Given the description of an element on the screen output the (x, y) to click on. 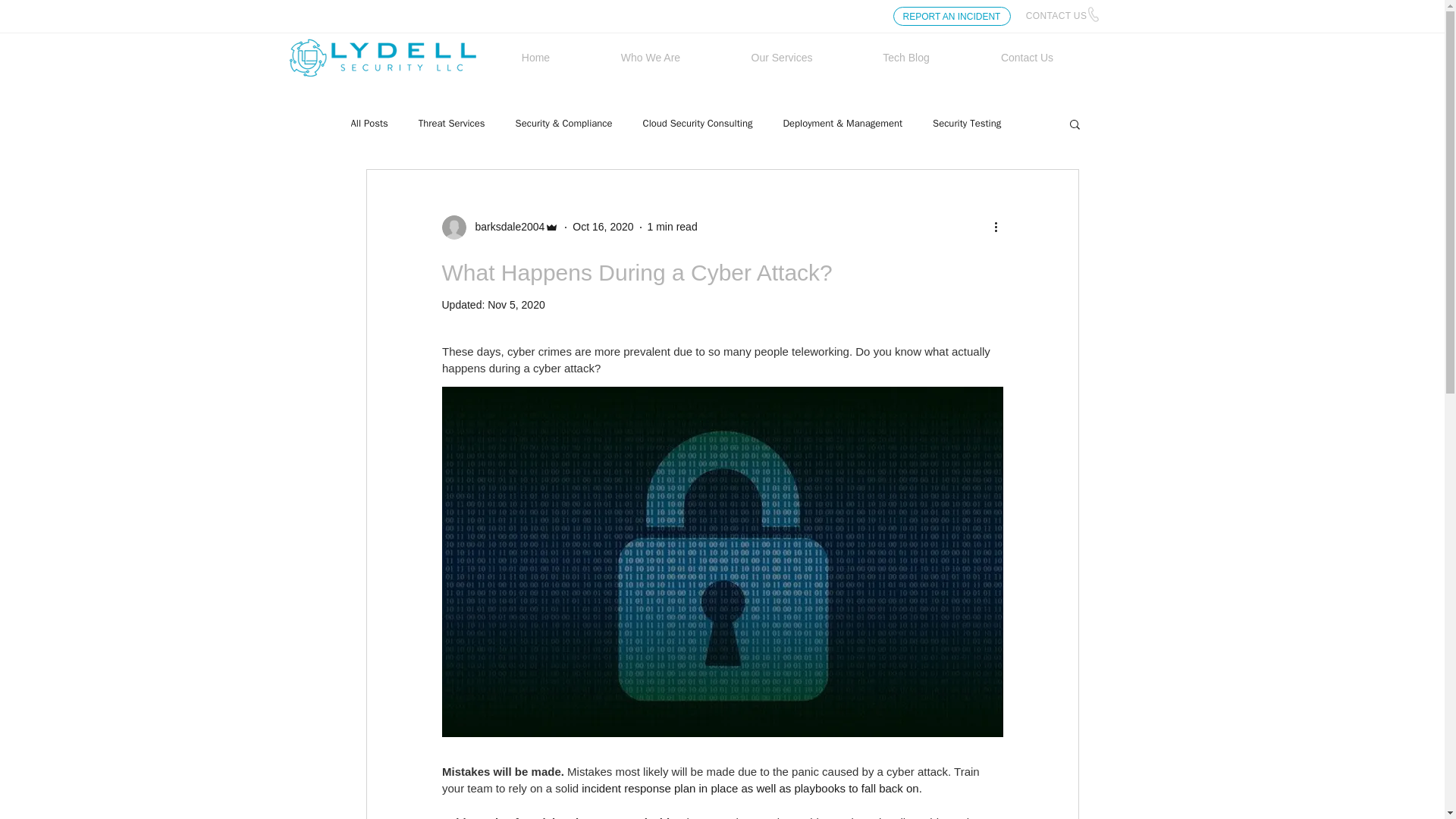
Contact Us (1026, 57)
barksdale2004 (504, 227)
Threat Services (451, 123)
Who We Are (650, 57)
Oct 16, 2020 (602, 226)
Security Testing (967, 123)
Cloud Security Consulting (697, 123)
REPORT AN INCIDENT (951, 15)
Nov 5, 2020 (515, 304)
All Posts (368, 123)
1 min read (672, 226)
Our Services (781, 57)
CONTACT US (1056, 15)
Tech Blog (906, 57)
cyber crimes (538, 350)
